Given the description of an element on the screen output the (x, y) to click on. 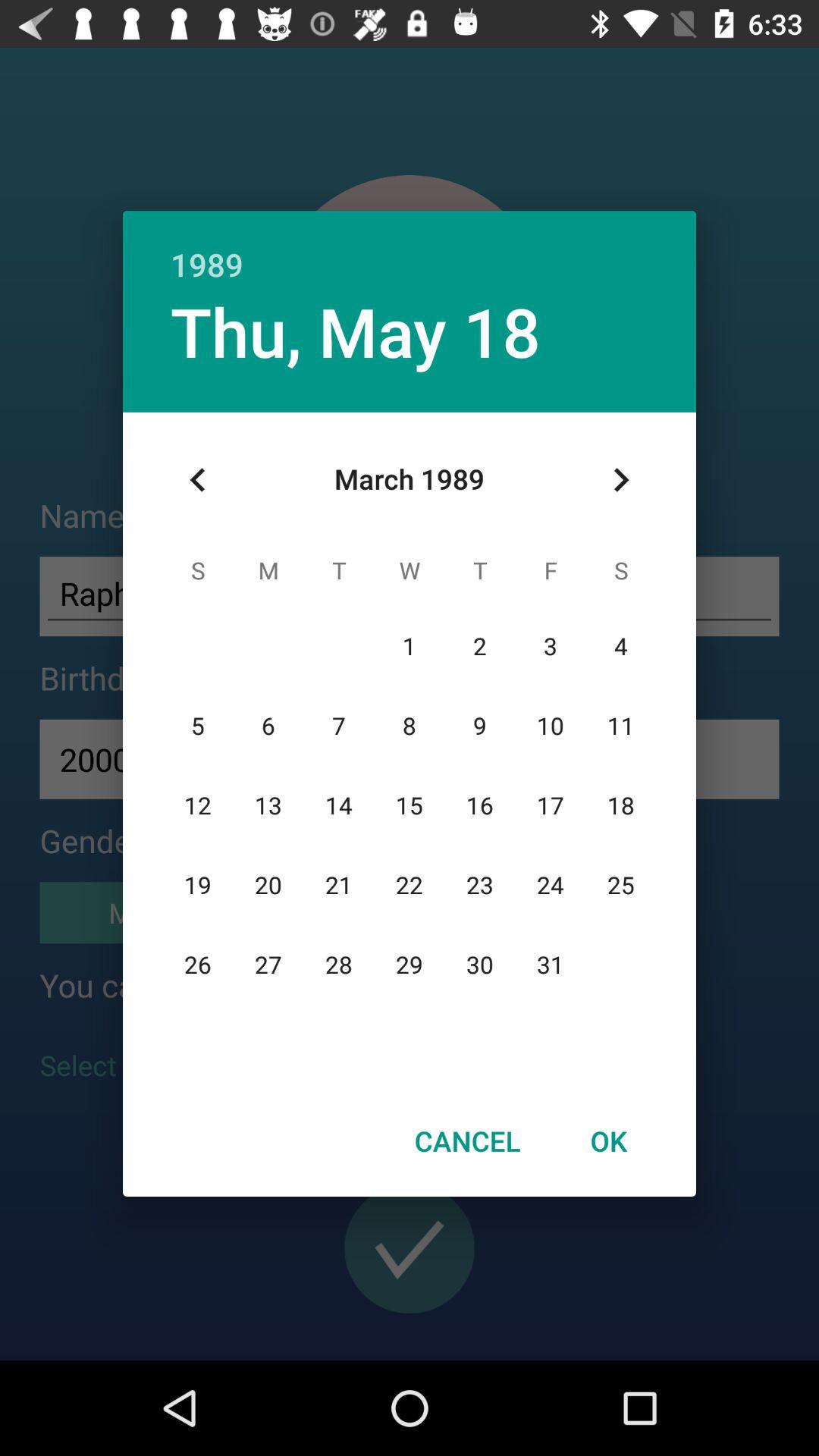
select the icon at the bottom (467, 1140)
